Given the description of an element on the screen output the (x, y) to click on. 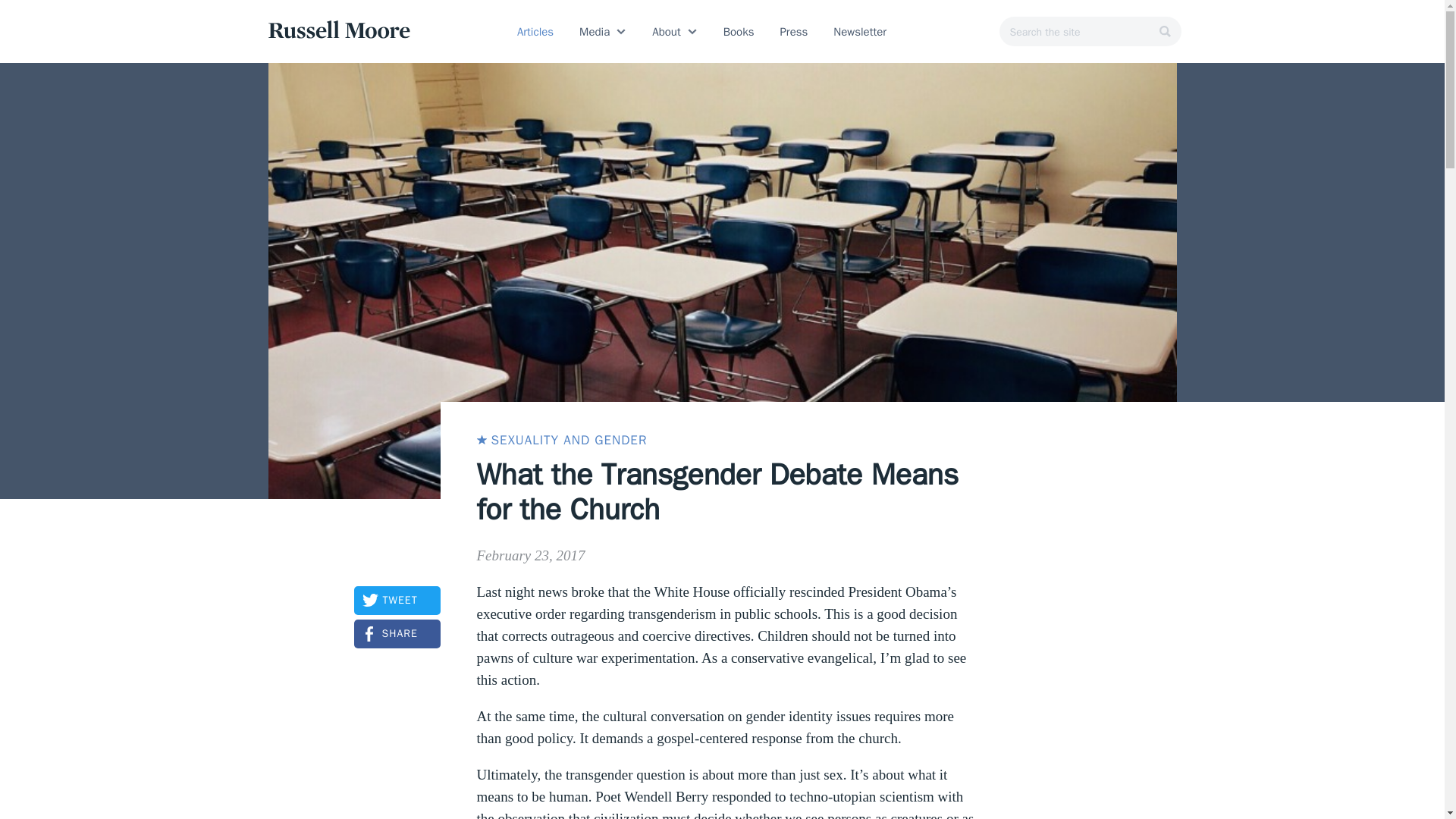
TWEET (396, 600)
Russell Moore (333, 29)
SEXUALITY AND GENDER (561, 439)
Search (1315, 23)
SHARE (396, 633)
Books (738, 31)
SEARCH (1055, 63)
Newsletter (859, 31)
About (666, 31)
Main Navigation (1343, 22)
Articles (534, 31)
Press (793, 31)
Media (594, 31)
